Given the description of an element on the screen output the (x, y) to click on. 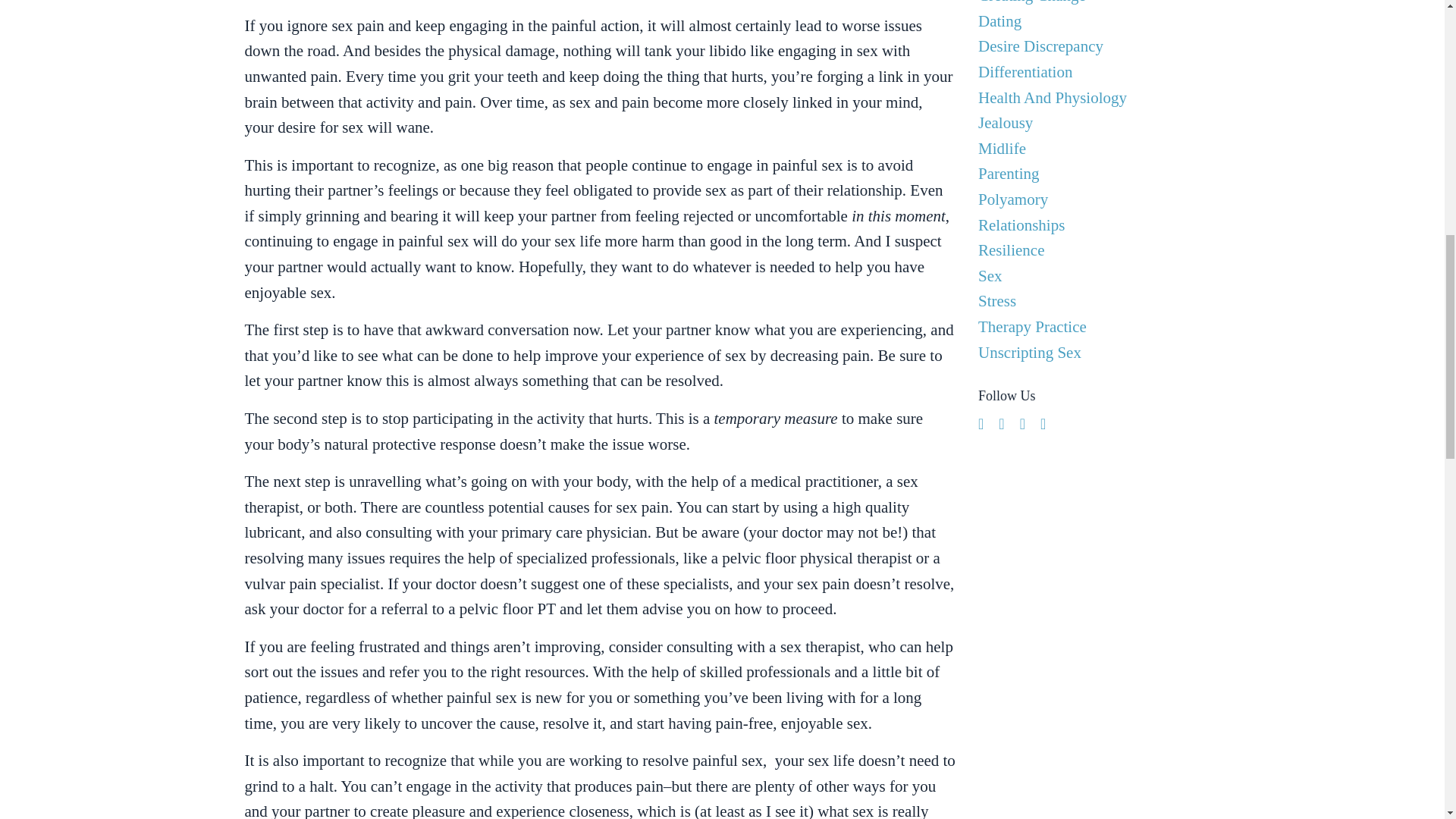
Midlife (1088, 149)
Health And Physiology (1088, 98)
Jealousy (1088, 123)
Desire Discrepancy (1088, 46)
Creating Change (1088, 4)
Differentiation (1088, 72)
Dating (1088, 22)
